Given the description of an element on the screen output the (x, y) to click on. 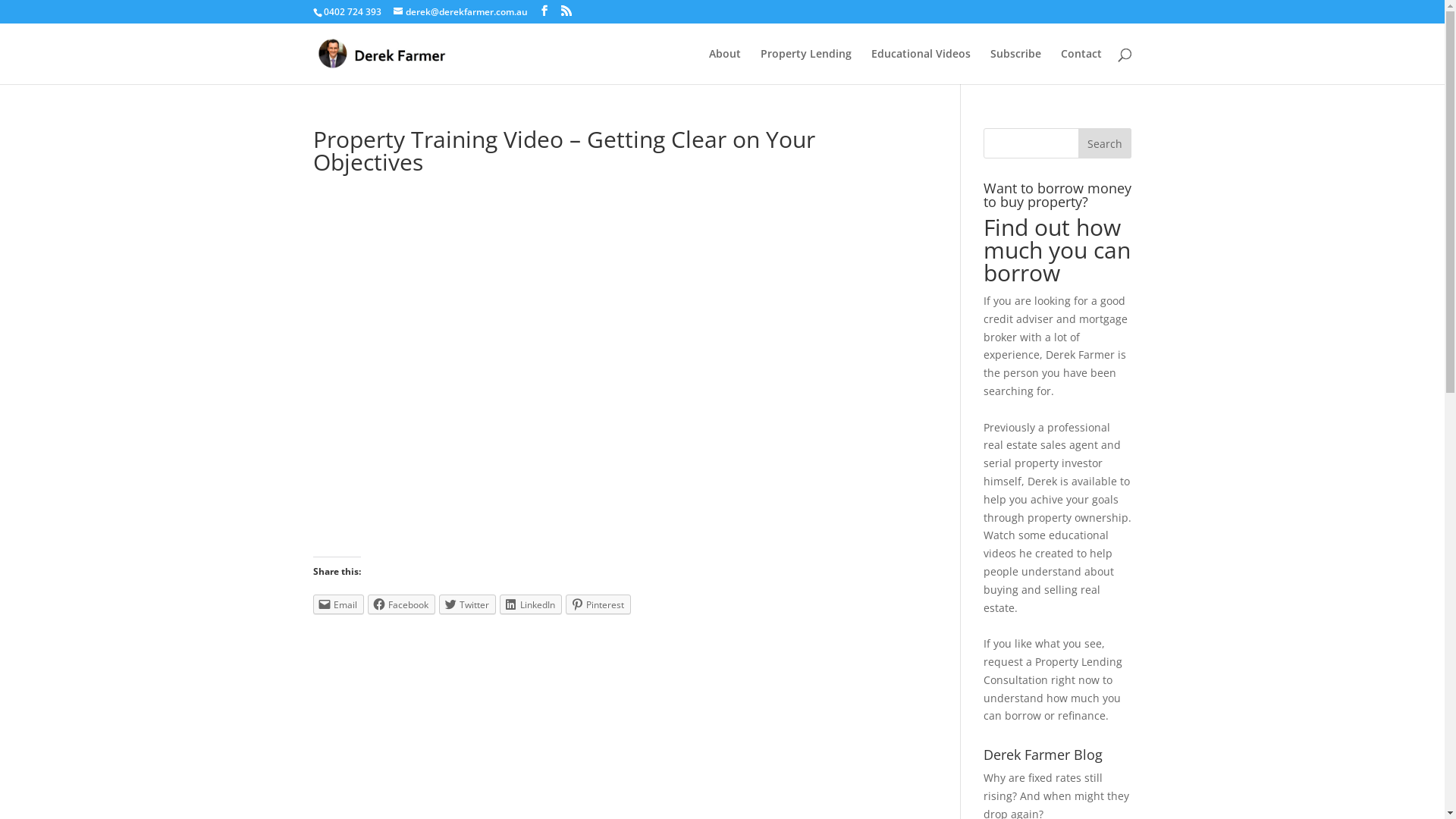
Email Element type: text (337, 604)
understand about buying and selling real estate Element type: text (1048, 589)
derek@derekfarmer.com.au Element type: text (459, 11)
Contact Element type: text (1080, 66)
request a Property Lending Consultation Element type: text (1052, 670)
Subscribe Element type: text (1015, 66)
About Element type: text (724, 66)
Search Element type: text (1104, 143)
Pinterest Element type: text (597, 604)
LinkedIn Element type: text (529, 604)
Twitter Element type: text (466, 604)
Facebook Element type: text (400, 604)
Educational Videos Element type: text (919, 66)
Property Lending Element type: text (804, 66)
